Given the description of an element on the screen output the (x, y) to click on. 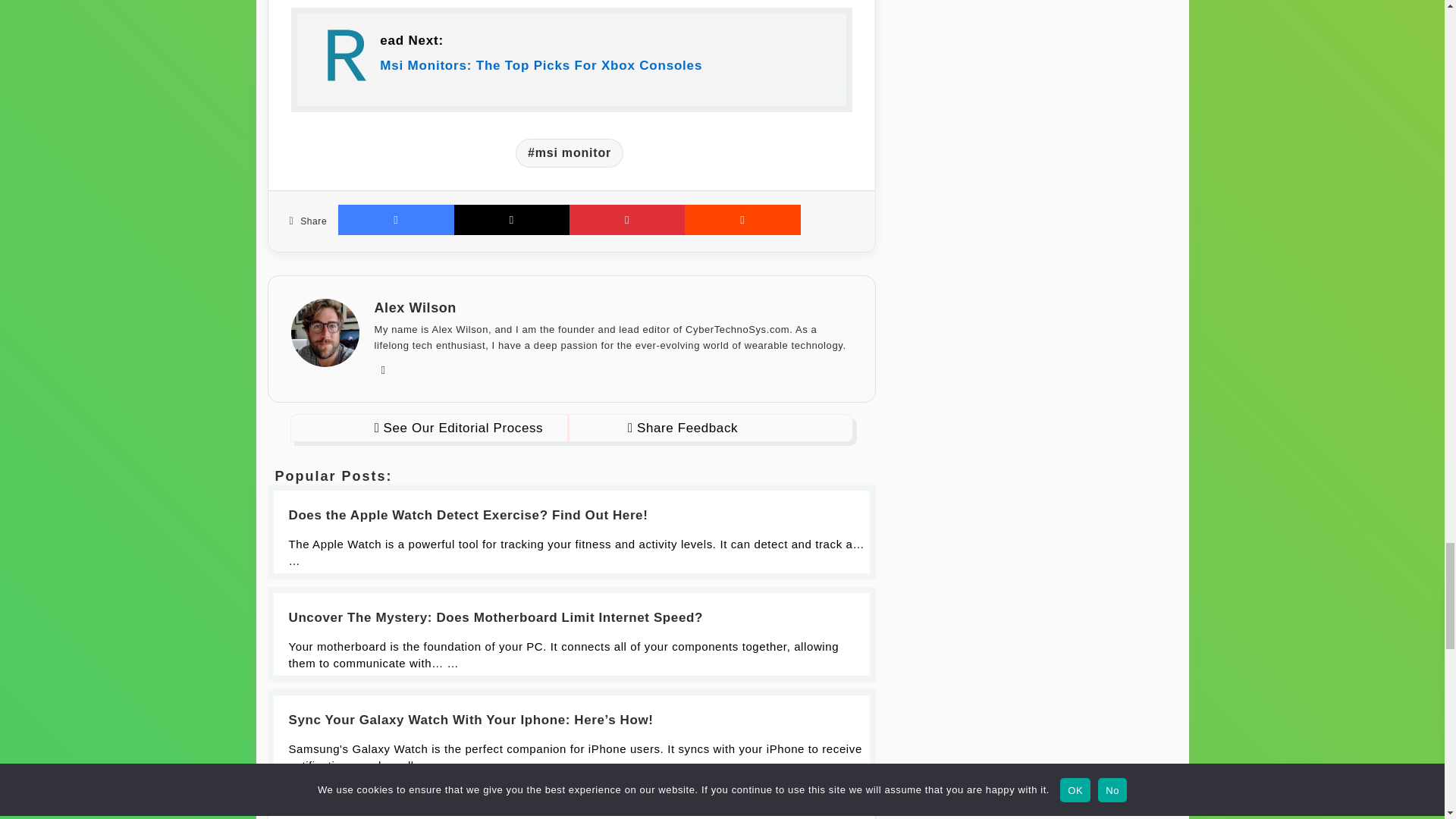
Msi Monitors: The Top Picks For Xbox Consoles (571, 66)
Reddit (741, 219)
Pinterest (626, 219)
msi monitor (569, 152)
X (511, 219)
Facebook (394, 219)
